Given the description of an element on the screen output the (x, y) to click on. 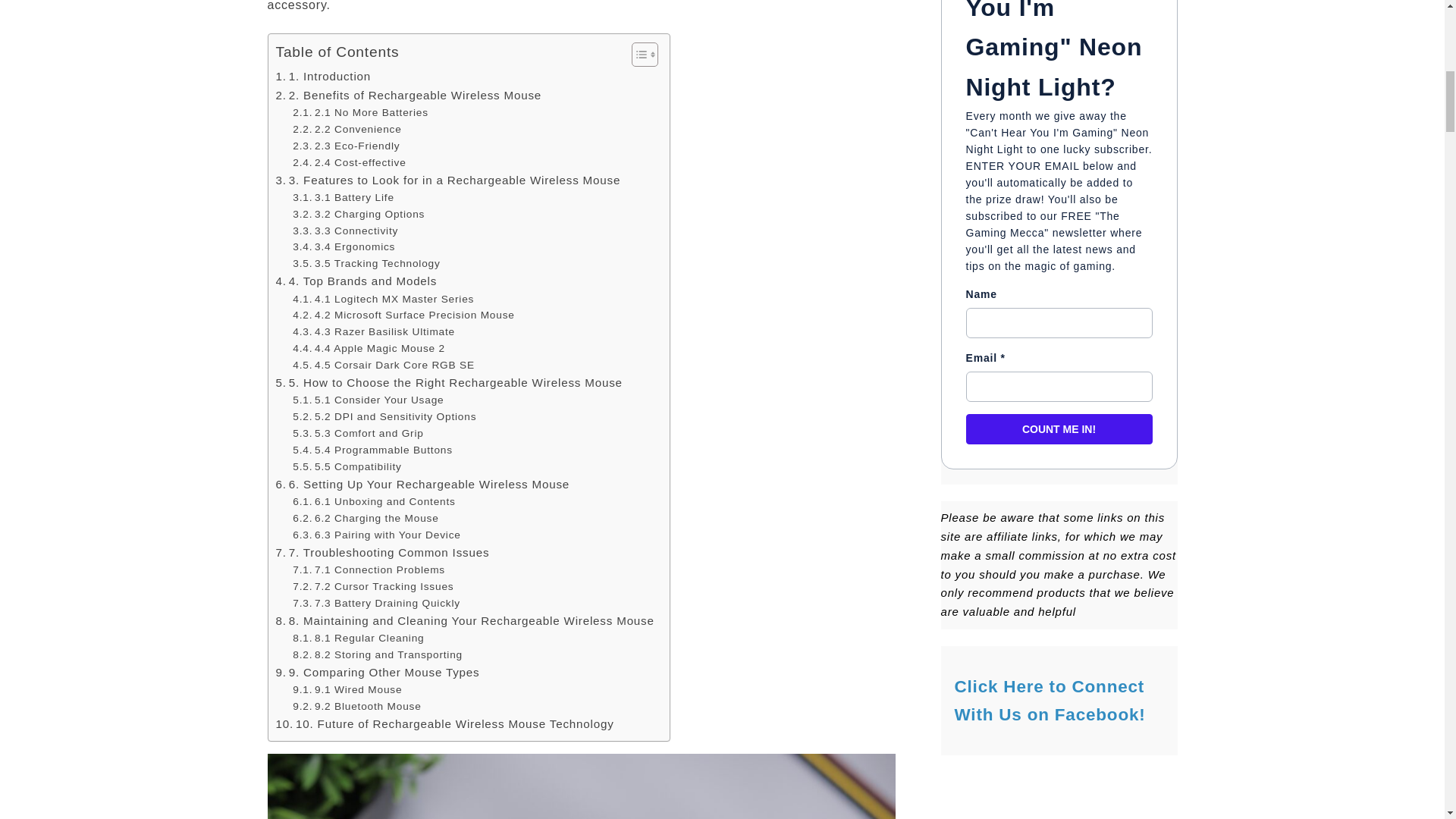
2. Benefits of Rechargeable Wireless Mouse (408, 95)
3.5 Tracking Technology (365, 263)
4.2 Microsoft Surface Precision Mouse (402, 315)
3.3 Connectivity (344, 230)
3.2 Charging Options (358, 214)
3.4 Ergonomics (343, 247)
3. Features to Look for in a Rechargeable Wireless Mouse (448, 180)
4.1 Logitech MX Master Series (383, 299)
3.5 Tracking Technology (365, 263)
3.1 Battery Life (343, 197)
3.2 Charging Options (358, 214)
2.4 Cost-effective (349, 162)
2. Benefits of Rechargeable Wireless Mouse (408, 95)
4. Top Brands and Models (357, 280)
2.4 Cost-effective (349, 162)
